Given the description of an element on the screen output the (x, y) to click on. 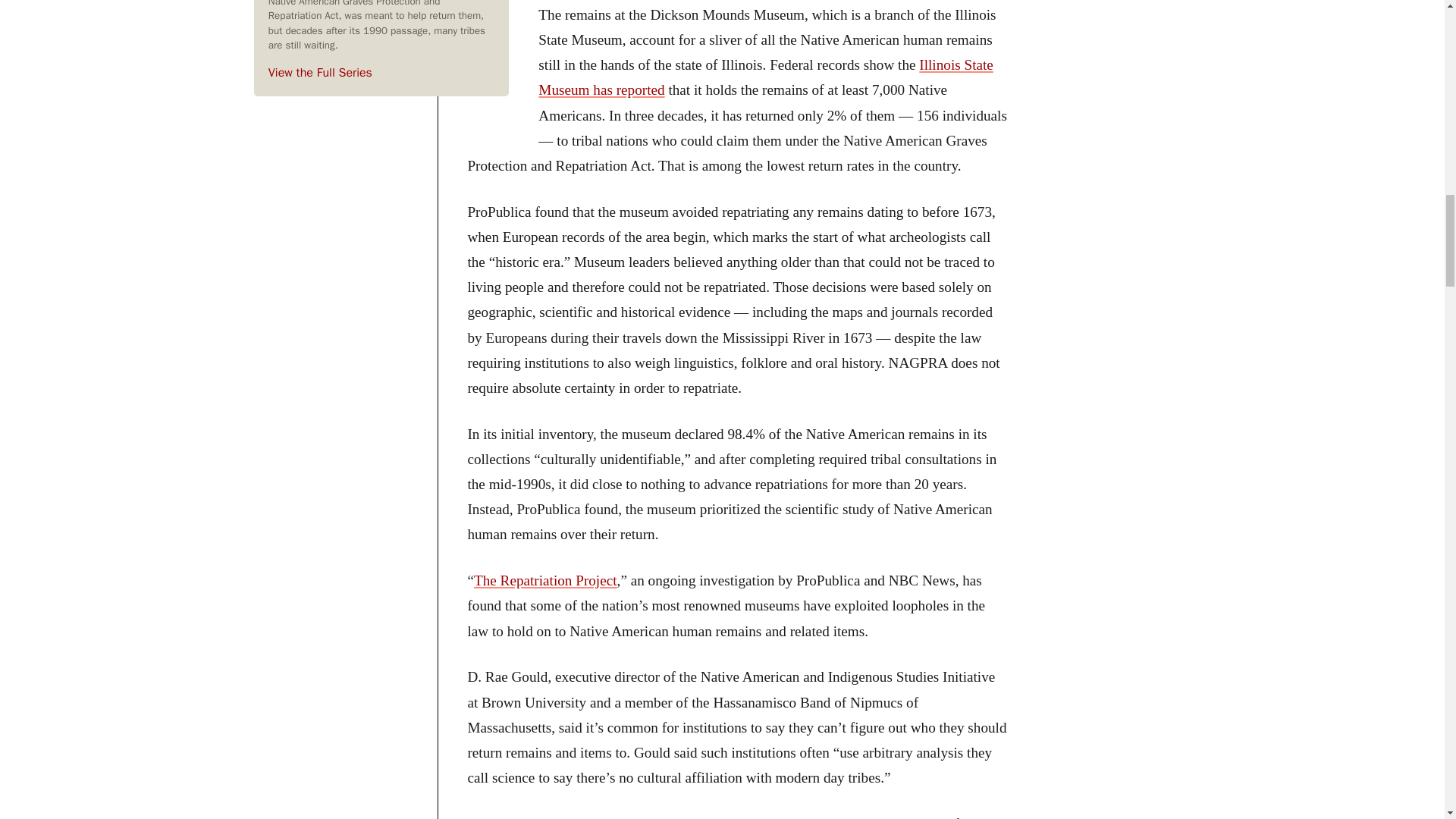
The Repatriation Project (545, 580)
Illinois State Museum has reported (765, 76)
View the Full Series (319, 72)
